Given the description of an element on the screen output the (x, y) to click on. 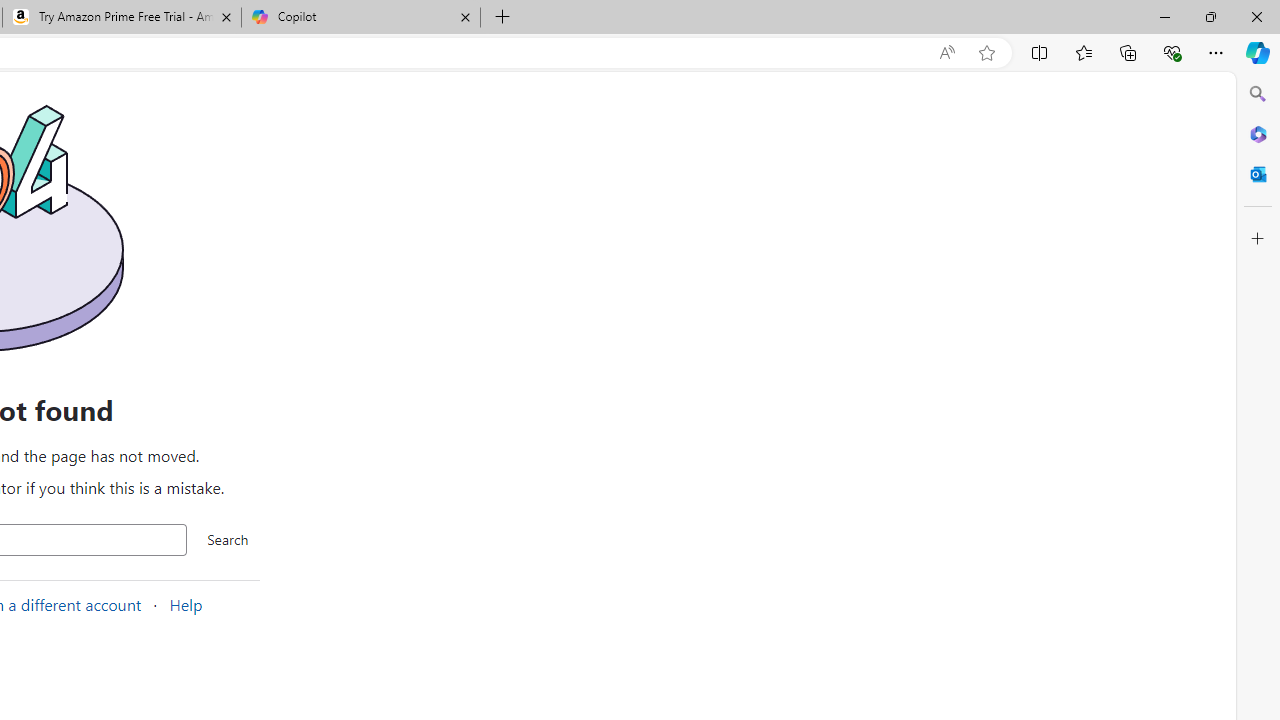
Class: s16 gl-icon gl-button-icon  (710, 164)
0 (718, 508)
Dismiss trial promotion (710, 164)
